Given the description of an element on the screen output the (x, y) to click on. 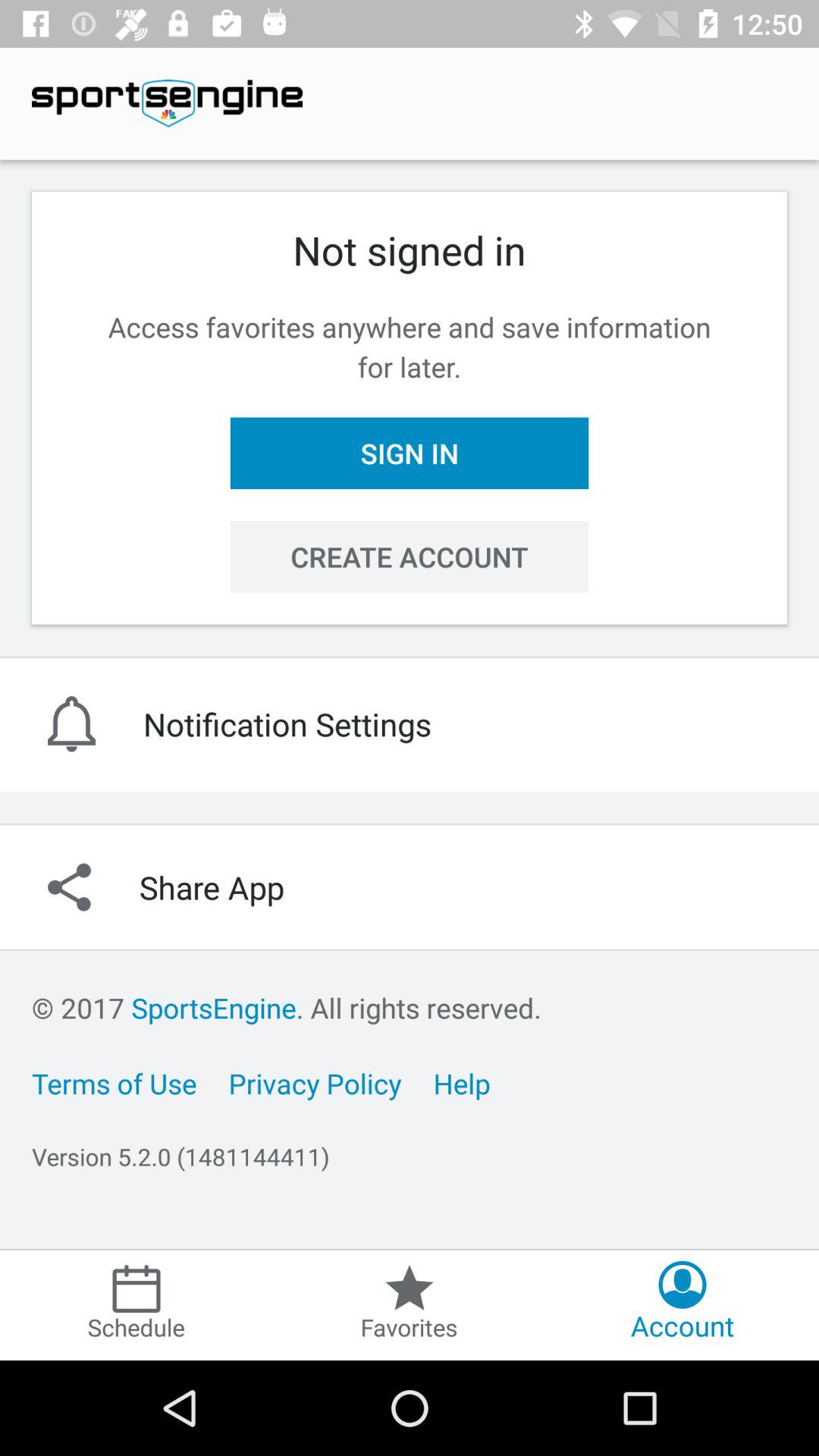
turn on the item below the 2017 sportsengine all (314, 1083)
